Given the description of an element on the screen output the (x, y) to click on. 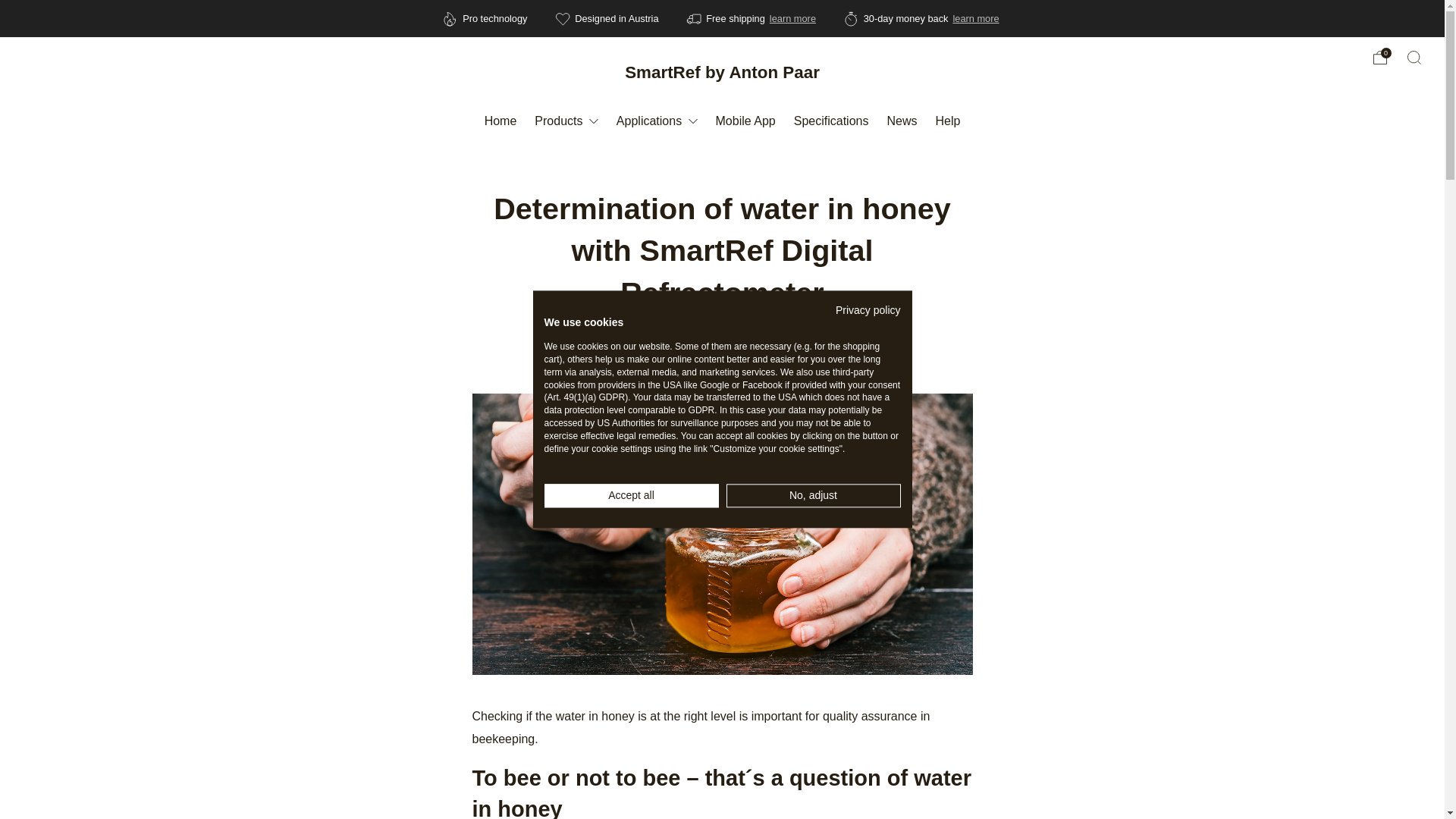
Help (946, 120)
Products (566, 120)
SmartRef by Anton Paar (721, 72)
learn more (792, 18)
News (901, 120)
0 (1380, 57)
Applications (656, 120)
learn more (975, 18)
Specifications (831, 120)
Home (500, 120)
Mobile App (746, 120)
